Given the description of an element on the screen output the (x, y) to click on. 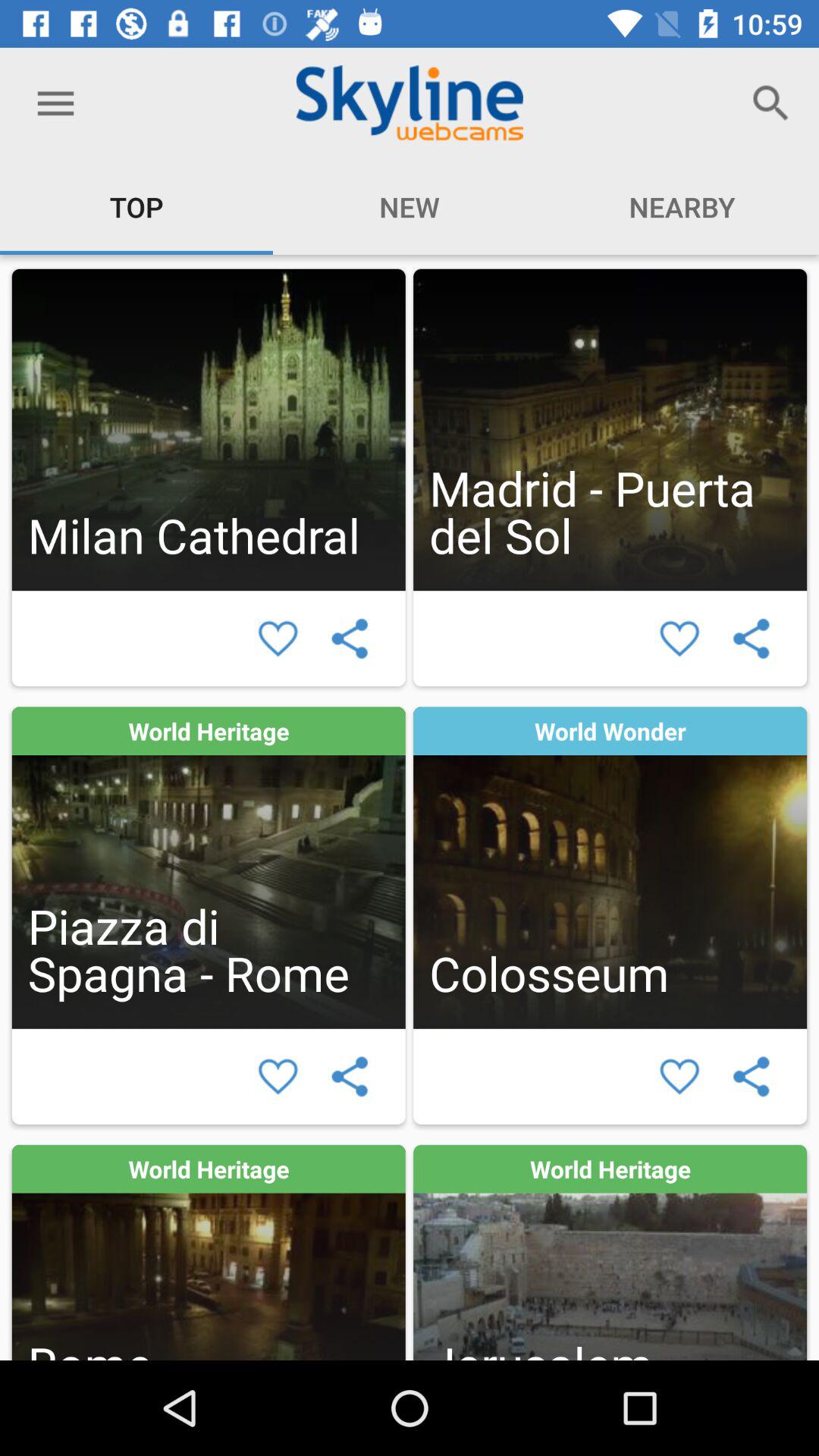
share the webcam footage (751, 638)
